Given the description of an element on the screen output the (x, y) to click on. 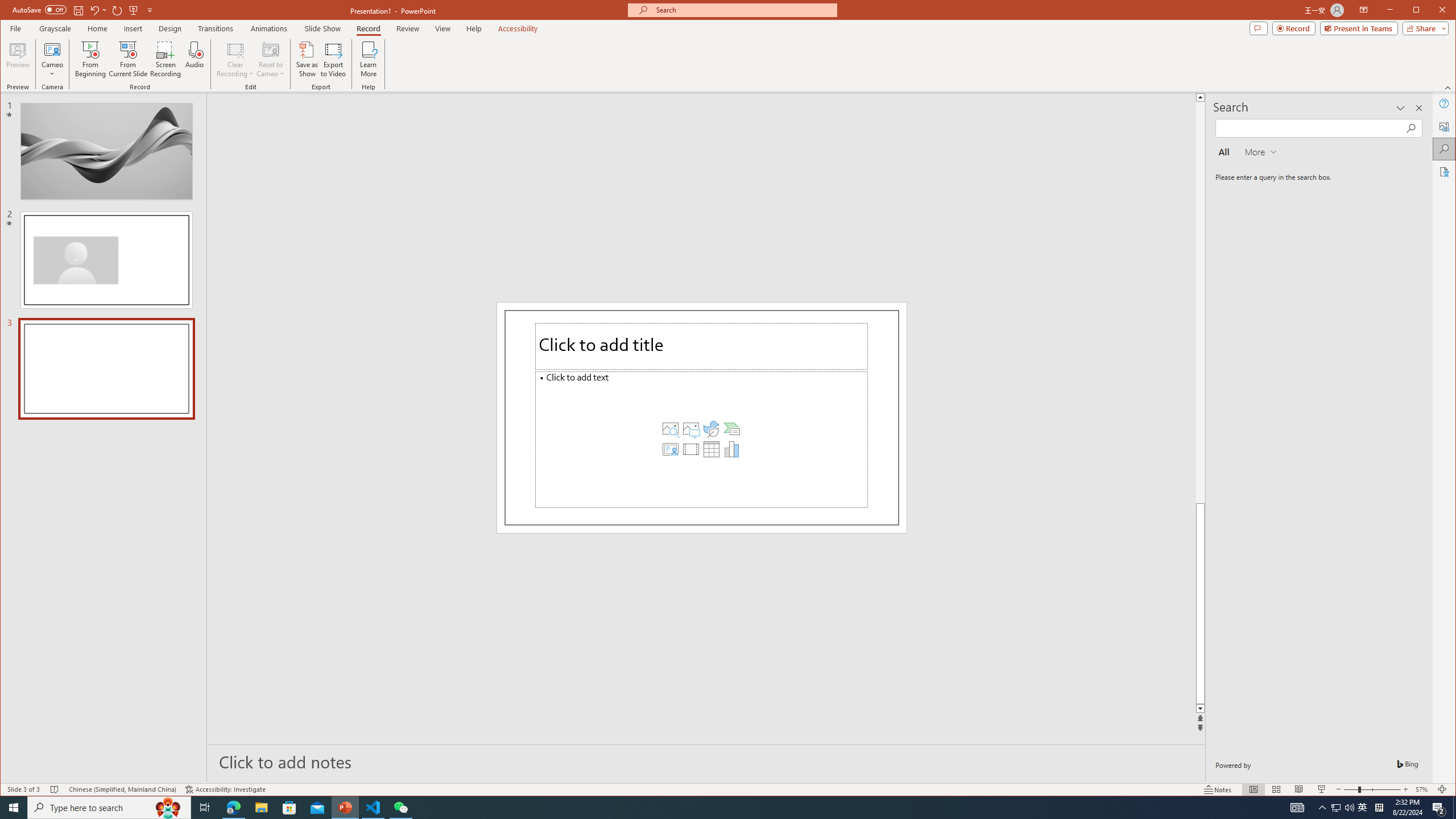
Content Placeholder (701, 439)
Insert Table (710, 449)
